Given the description of an element on the screen output the (x, y) to click on. 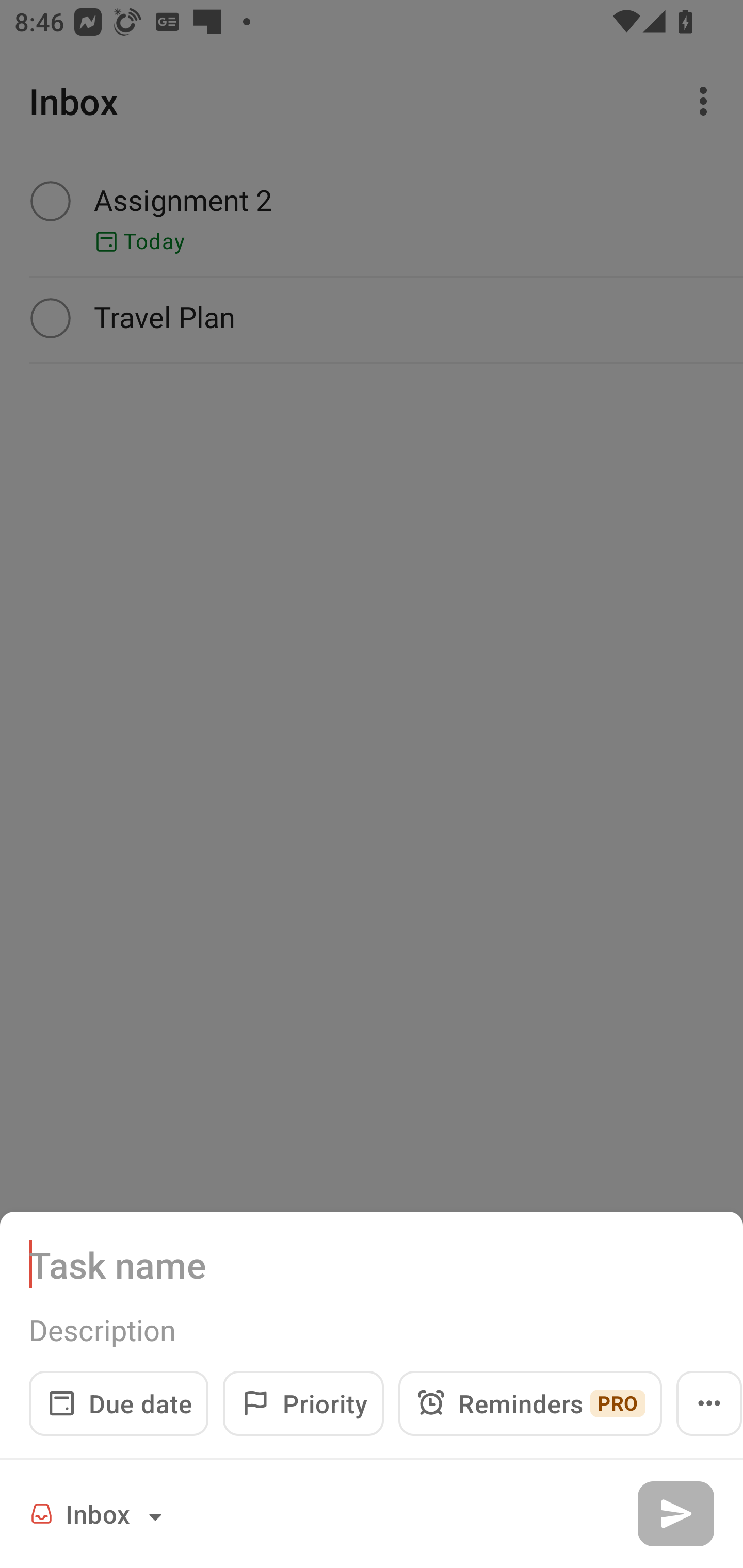
Task name (371, 1264)
Description (371, 1330)
Due date Date (118, 1403)
Priority (303, 1403)
Reminders PRO Reminders (530, 1403)
Open menu (709, 1403)
Inbox Project (99, 1513)
Add (675, 1513)
